Given the description of an element on the screen output the (x, y) to click on. 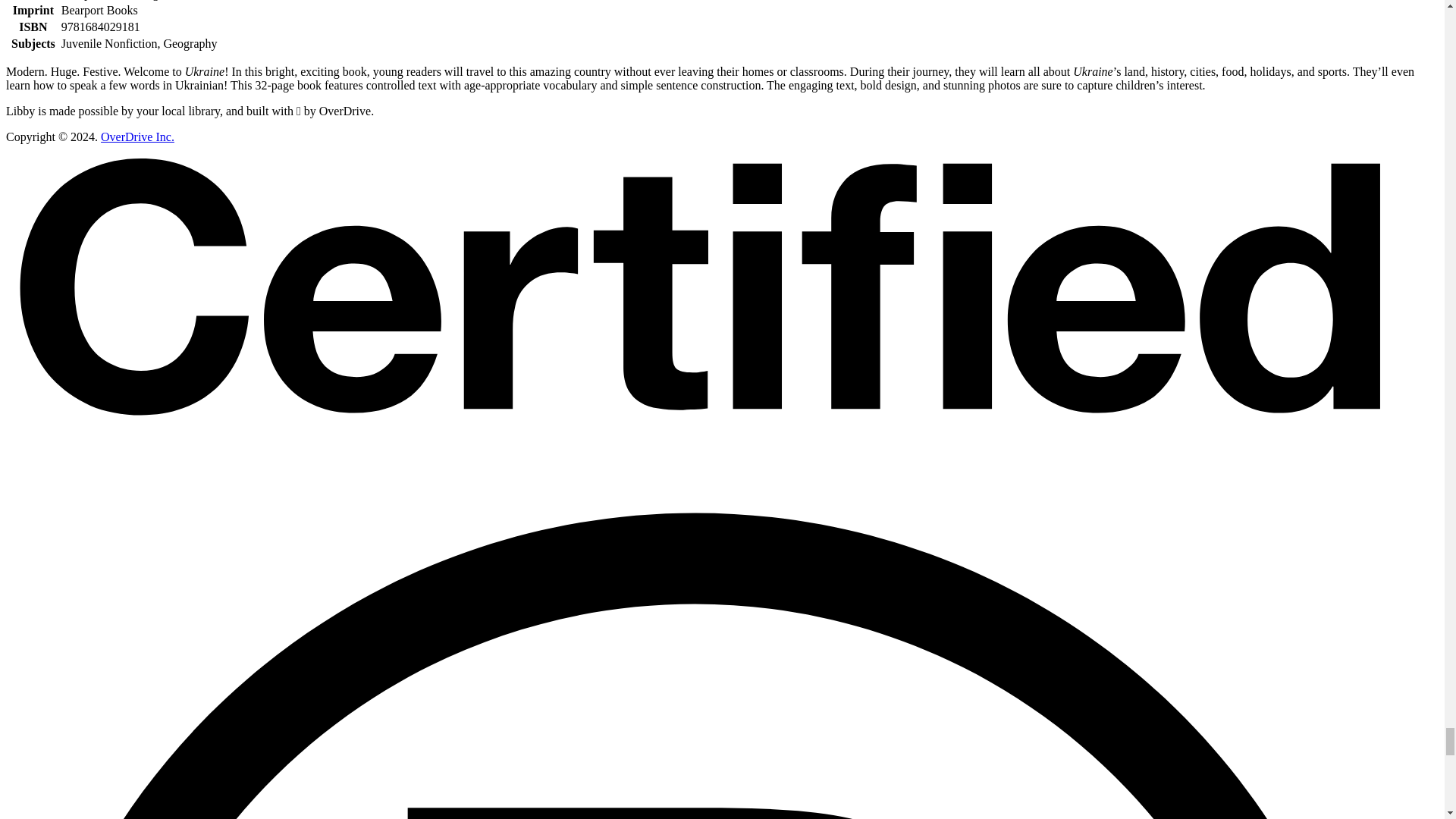
OverDrive Inc. (137, 136)
